Given the description of an element on the screen output the (x, y) to click on. 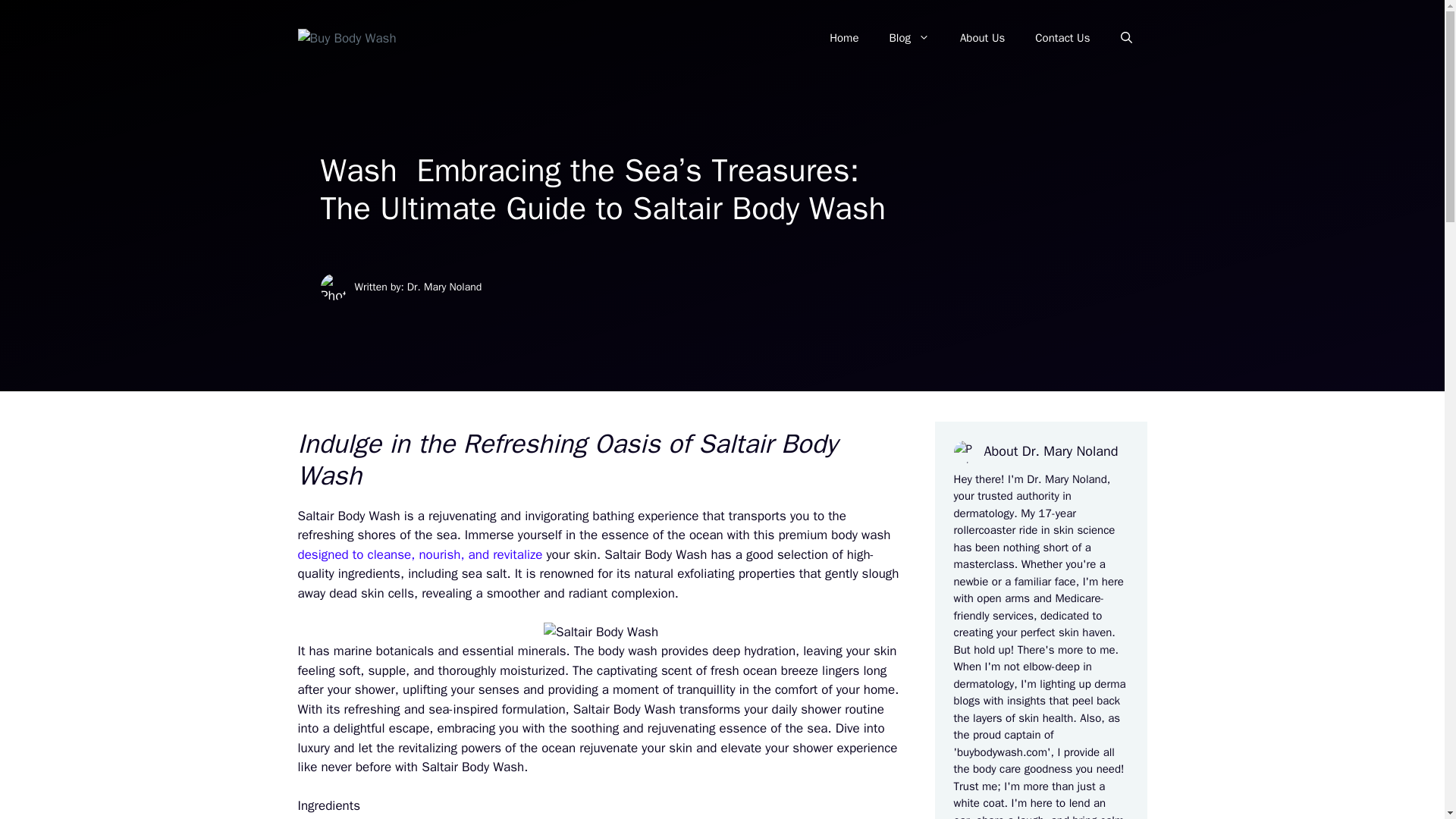
Home (843, 37)
Blog (908, 37)
buybodywash.com (1001, 752)
About Us (982, 37)
Contact Us (1062, 37)
designed to cleanse, nourish, and revitalize (419, 554)
